Given the description of an element on the screen output the (x, y) to click on. 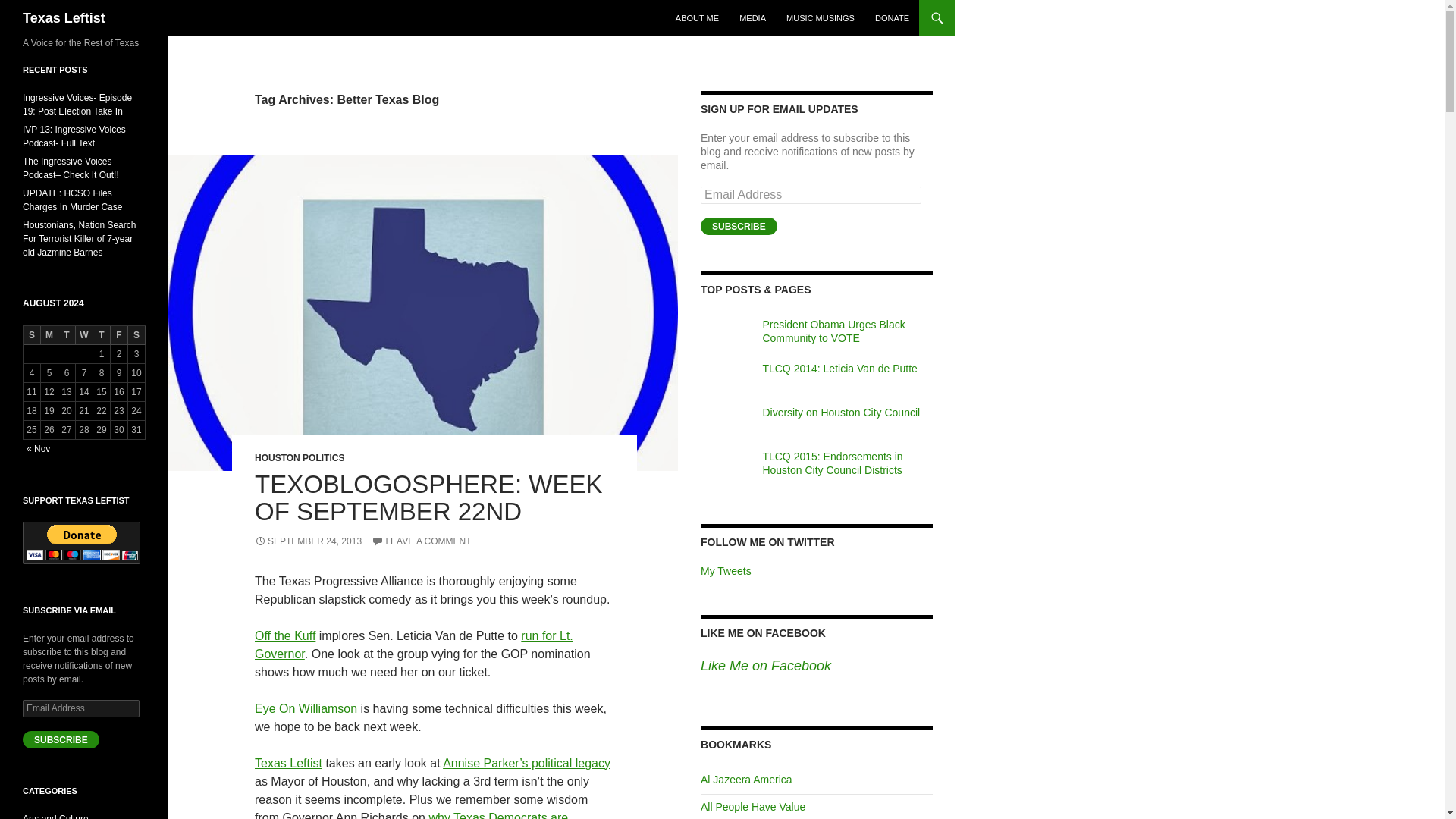
run for Lt. Governor (413, 644)
TEXOBLOGOSPHERE: WEEK OF SEPTEMBER 22ND (428, 497)
MUSIC MUSINGS (820, 18)
LEAVE A COMMENT (420, 541)
Eye On Williamson (305, 707)
Texas Leftist (63, 18)
ABOUT ME (697, 18)
SEPTEMBER 24, 2013 (307, 541)
Off the Kuff (284, 635)
DONATE (892, 18)
